Given the description of an element on the screen output the (x, y) to click on. 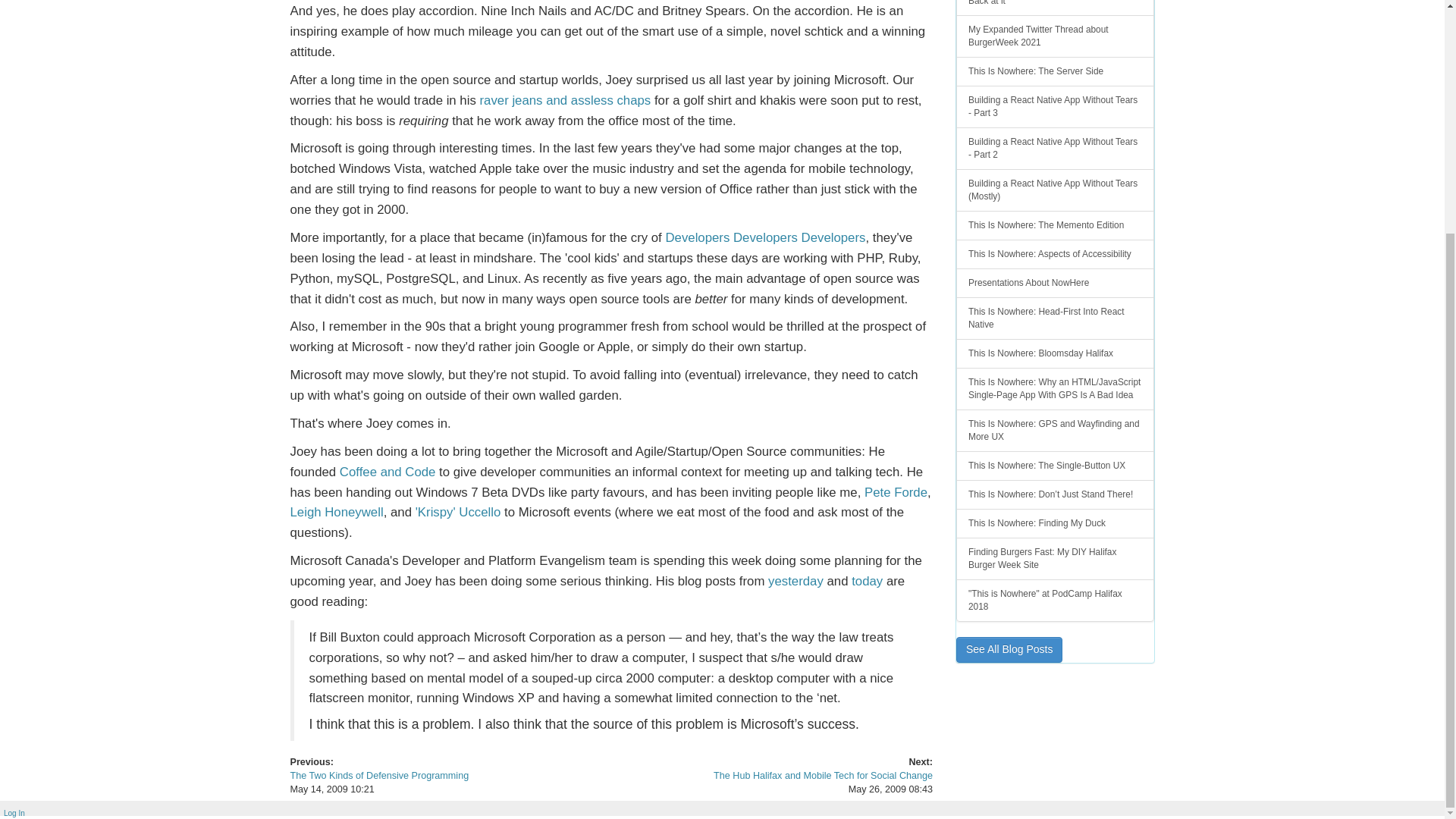
today (866, 581)
This Is Nowhere: GPS and Wayfinding and More UX (1055, 430)
This Is Nowhere: The Memento Edition (1055, 225)
'Krispy' Uccello (457, 512)
Coffee and Code (387, 472)
The Two Kinds of Defensive Programming (378, 775)
This Is Nowhere: The Server Side (1055, 71)
This Is Nowhere: Finding My Duck (1055, 523)
Developers Developers Developers (764, 237)
This Is Nowhere: Bloomsday Halifax (1055, 353)
Presentations About NowHere (1055, 283)
This Is Nowhere: The Single-Button UX (1055, 465)
This Is Nowhere: Head-First Into React Native (1055, 318)
Building a React Native App Without Tears - Part 3 (1055, 106)
Building a React Native App Without Tears - Part 2 (1055, 148)
